Given the description of an element on the screen output the (x, y) to click on. 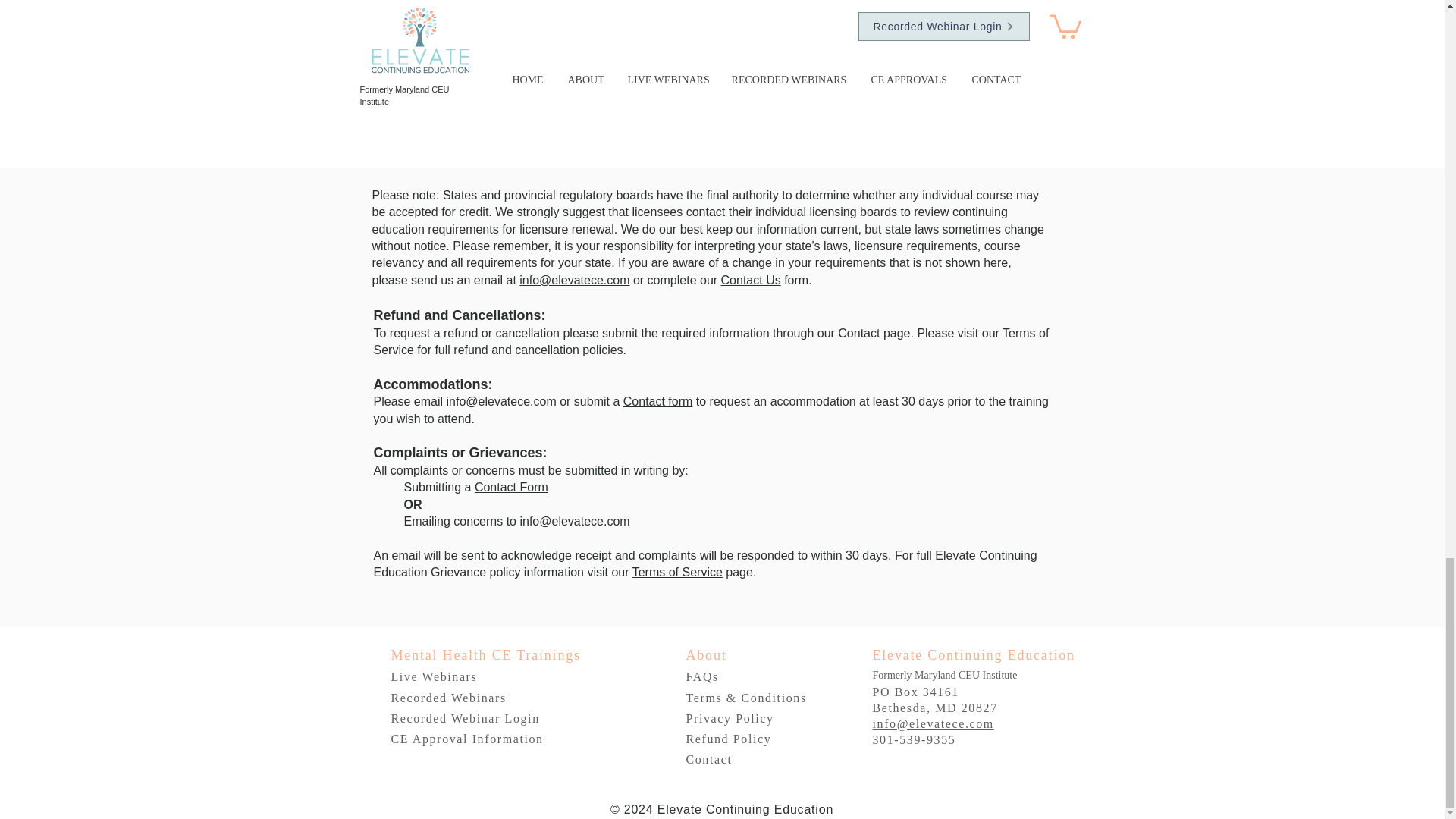
Recorded Webinars (448, 697)
Terms of Service (676, 571)
Contact form (658, 400)
Recorded Webinar Login (465, 717)
Terms of Service (710, 341)
Contact Form (511, 486)
FAQs (701, 676)
Contact (858, 332)
CE Approval Information (467, 738)
Contact Us (750, 279)
